Given the description of an element on the screen output the (x, y) to click on. 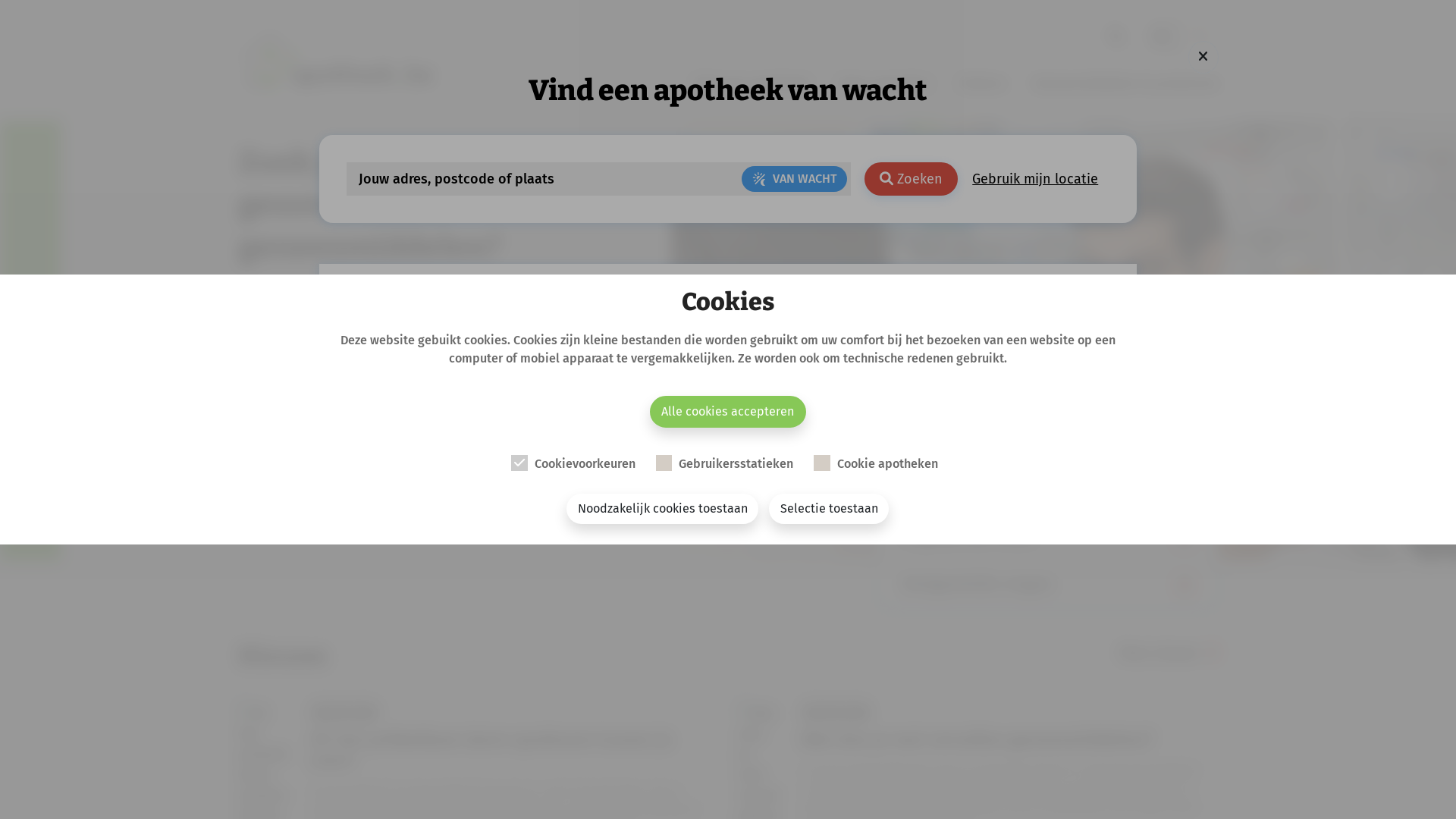
Geneesmiddelen & producten Element type: text (923, 402)
Vind een apotheek van wacht Element type: text (1046, 442)
Geneesmiddelen & producten Element type: text (1124, 83)
Selectie toestaan Element type: text (828, 508)
In geval van nood Element type: text (1046, 537)
COVID-vaccinatie in de apotheek Element type: text (531, 339)
Onze expertise Element type: text (884, 83)
Meer nieuws Element type: text (1168, 663)
Veelgestelde vragen Element type: text (531, 402)
Vind een apotheek Element type: text (750, 83)
Veelgestelde vragen Element type: text (1046, 584)
NL Element type: text (1162, 36)
Nieuws Element type: text (923, 371)
Gebruik mijn locatie Element type: text (1035, 179)
Zoeken Element type: text (639, 343)
Alle cookies accepteren Element type: text (727, 411)
In geval van nood Element type: text (531, 371)
Ziekten Element type: text (980, 83)
FR Element type: text (1199, 36)
Zoeken Element type: text (910, 179)
Apotheek.be Element type: text (923, 339)
Noodzakelijk cookies toestaan Element type: text (662, 508)
COVID-vaccinatie in de apotheek Element type: text (1046, 490)
